Given the description of an element on the screen output the (x, y) to click on. 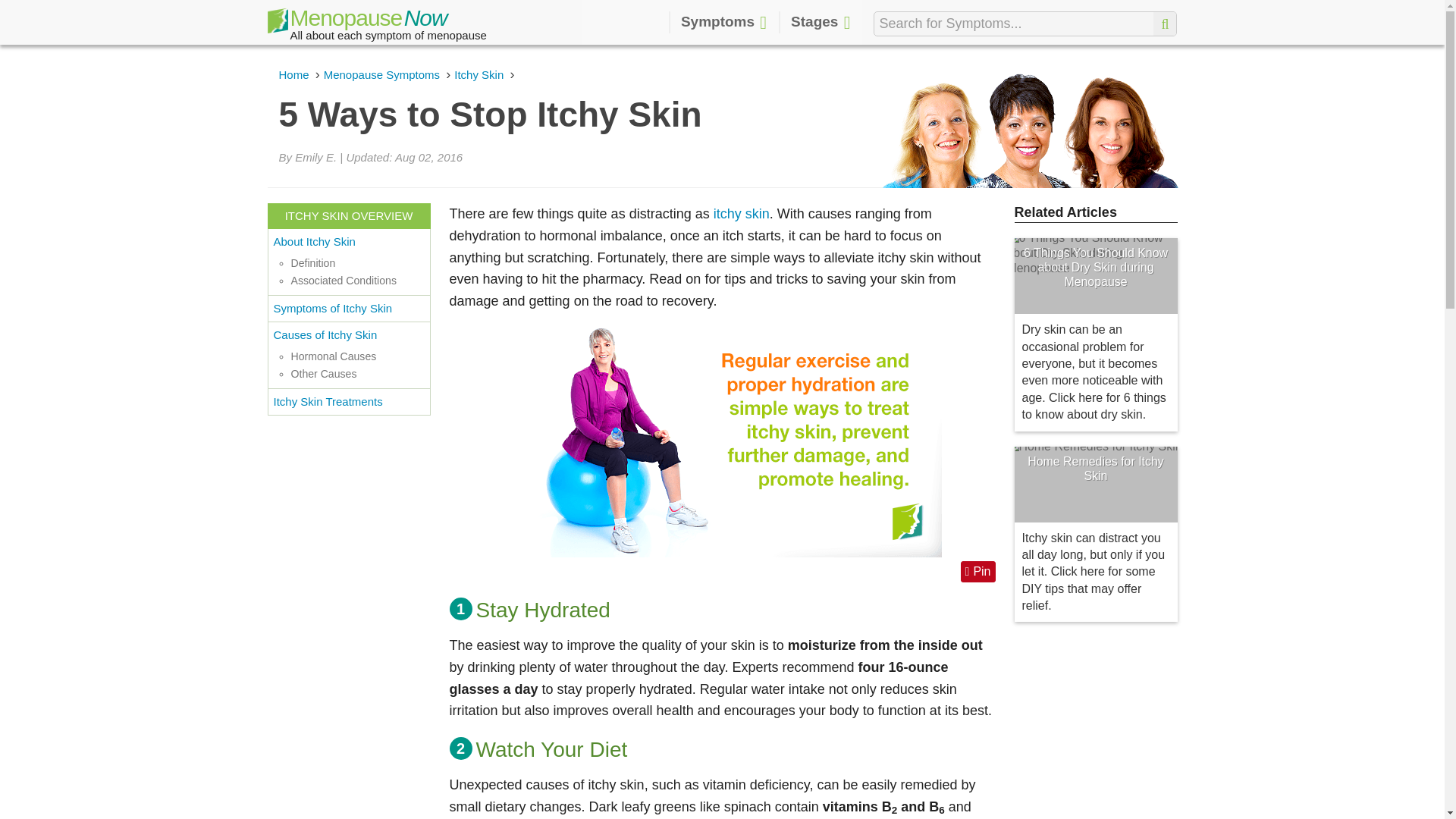
Pin (977, 571)
s (1164, 24)
Menopause Now (356, 24)
Symptoms (723, 22)
